Given the description of an element on the screen output the (x, y) to click on. 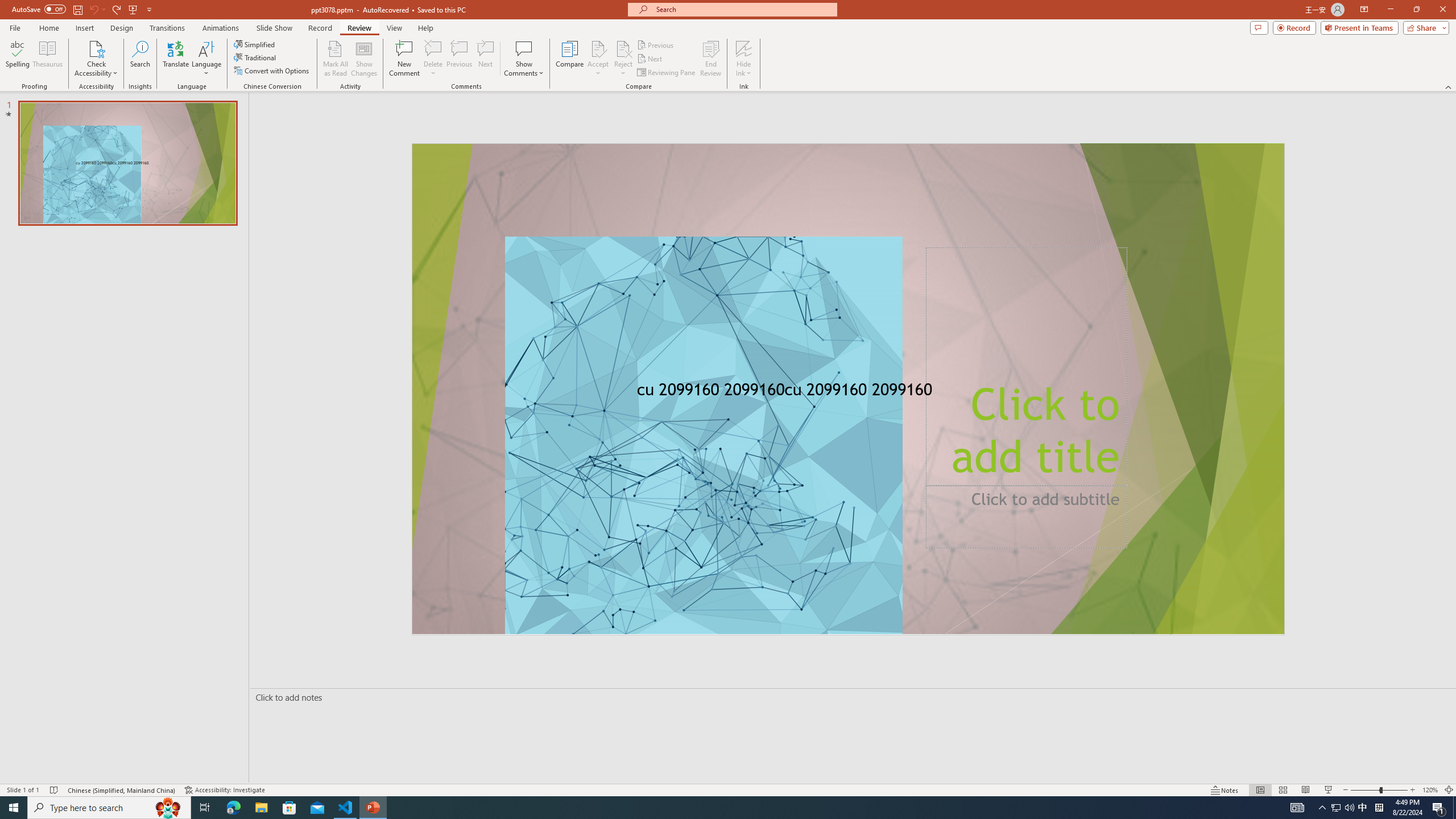
Zoom 120% (1430, 790)
Language (206, 58)
New Comment (403, 58)
Simplified (254, 44)
